Given the description of an element on the screen output the (x, y) to click on. 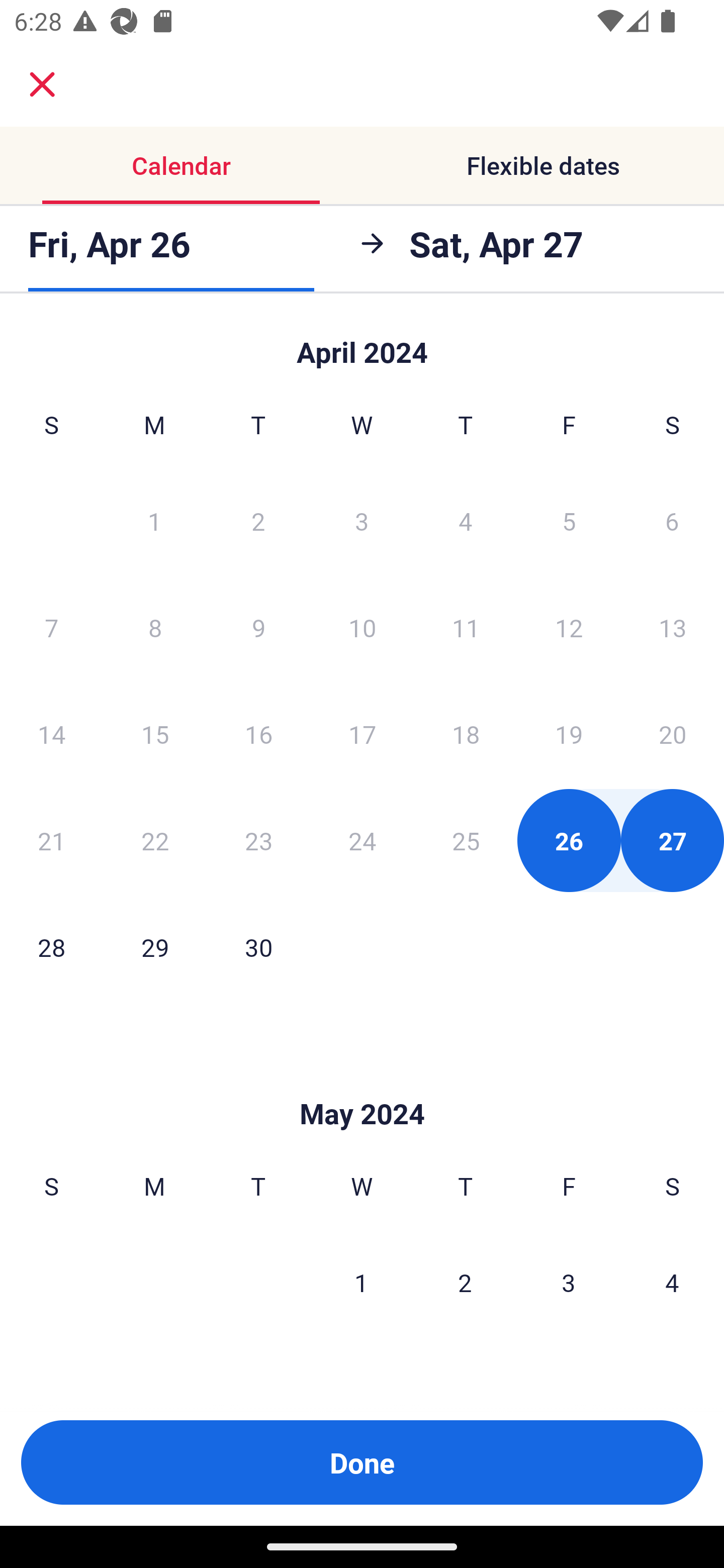
close. (42, 84)
Flexible dates (542, 164)
Skip to Done (362, 343)
1 Monday, April 1, 2024 (154, 520)
2 Tuesday, April 2, 2024 (257, 520)
3 Wednesday, April 3, 2024 (361, 520)
4 Thursday, April 4, 2024 (465, 520)
5 Friday, April 5, 2024 (568, 520)
6 Saturday, April 6, 2024 (672, 520)
7 Sunday, April 7, 2024 (51, 626)
8 Monday, April 8, 2024 (155, 626)
9 Tuesday, April 9, 2024 (258, 626)
10 Wednesday, April 10, 2024 (362, 626)
11 Thursday, April 11, 2024 (465, 626)
12 Friday, April 12, 2024 (569, 626)
13 Saturday, April 13, 2024 (672, 626)
14 Sunday, April 14, 2024 (51, 733)
15 Monday, April 15, 2024 (155, 733)
16 Tuesday, April 16, 2024 (258, 733)
17 Wednesday, April 17, 2024 (362, 733)
18 Thursday, April 18, 2024 (465, 733)
19 Friday, April 19, 2024 (569, 733)
20 Saturday, April 20, 2024 (672, 733)
21 Sunday, April 21, 2024 (51, 840)
22 Monday, April 22, 2024 (155, 840)
23 Tuesday, April 23, 2024 (258, 840)
24 Wednesday, April 24, 2024 (362, 840)
25 Thursday, April 25, 2024 (465, 840)
28 Sunday, April 28, 2024 (51, 946)
29 Monday, April 29, 2024 (155, 946)
30 Tuesday, April 30, 2024 (258, 946)
Skip to Done (362, 1083)
1 Wednesday, May 1, 2024 (361, 1282)
2 Thursday, May 2, 2024 (464, 1282)
3 Friday, May 3, 2024 (568, 1282)
4 Saturday, May 4, 2024 (672, 1282)
Done (361, 1462)
